Given the description of an element on the screen output the (x, y) to click on. 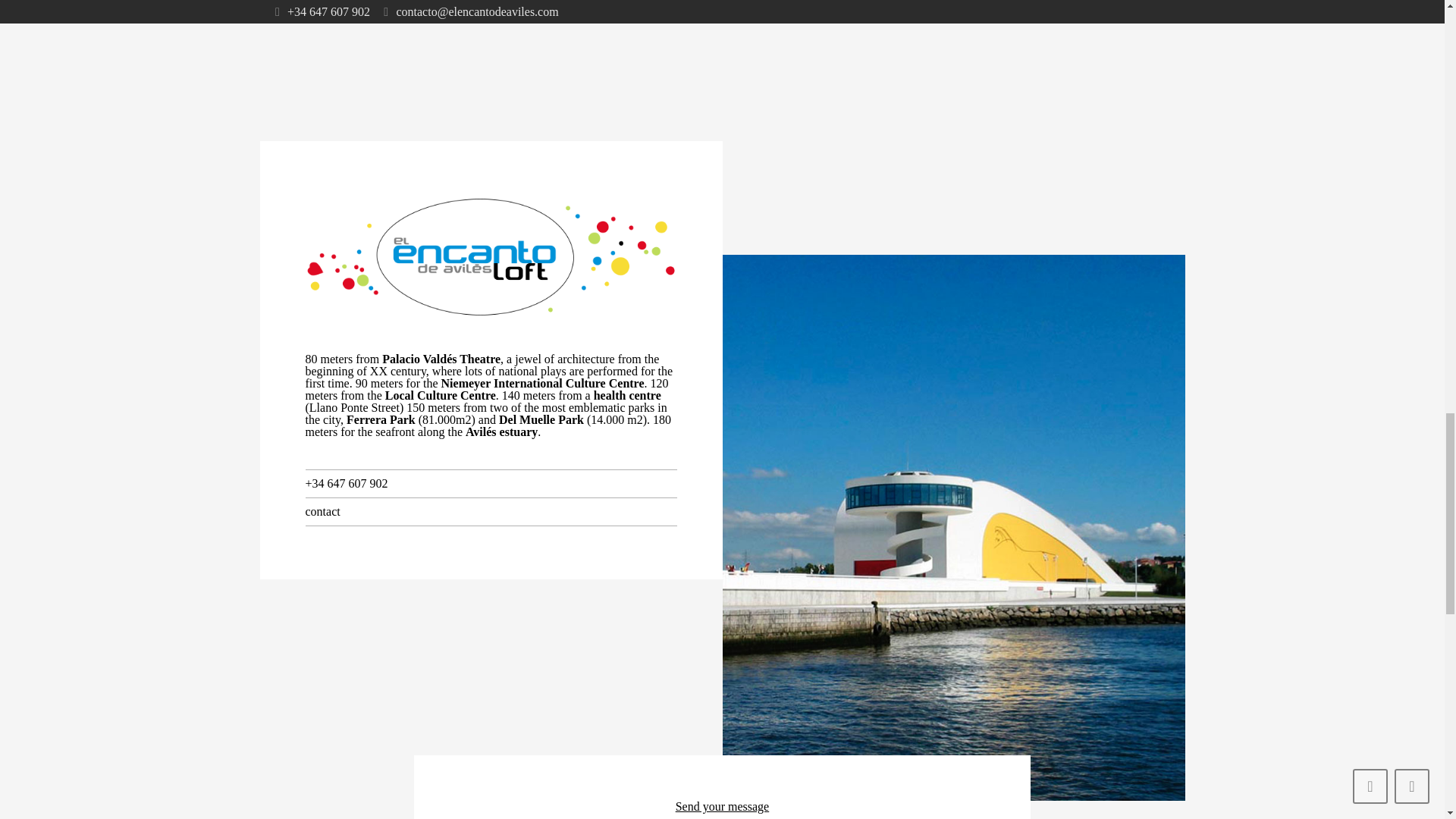
contact (321, 511)
